Given the description of an element on the screen output the (x, y) to click on. 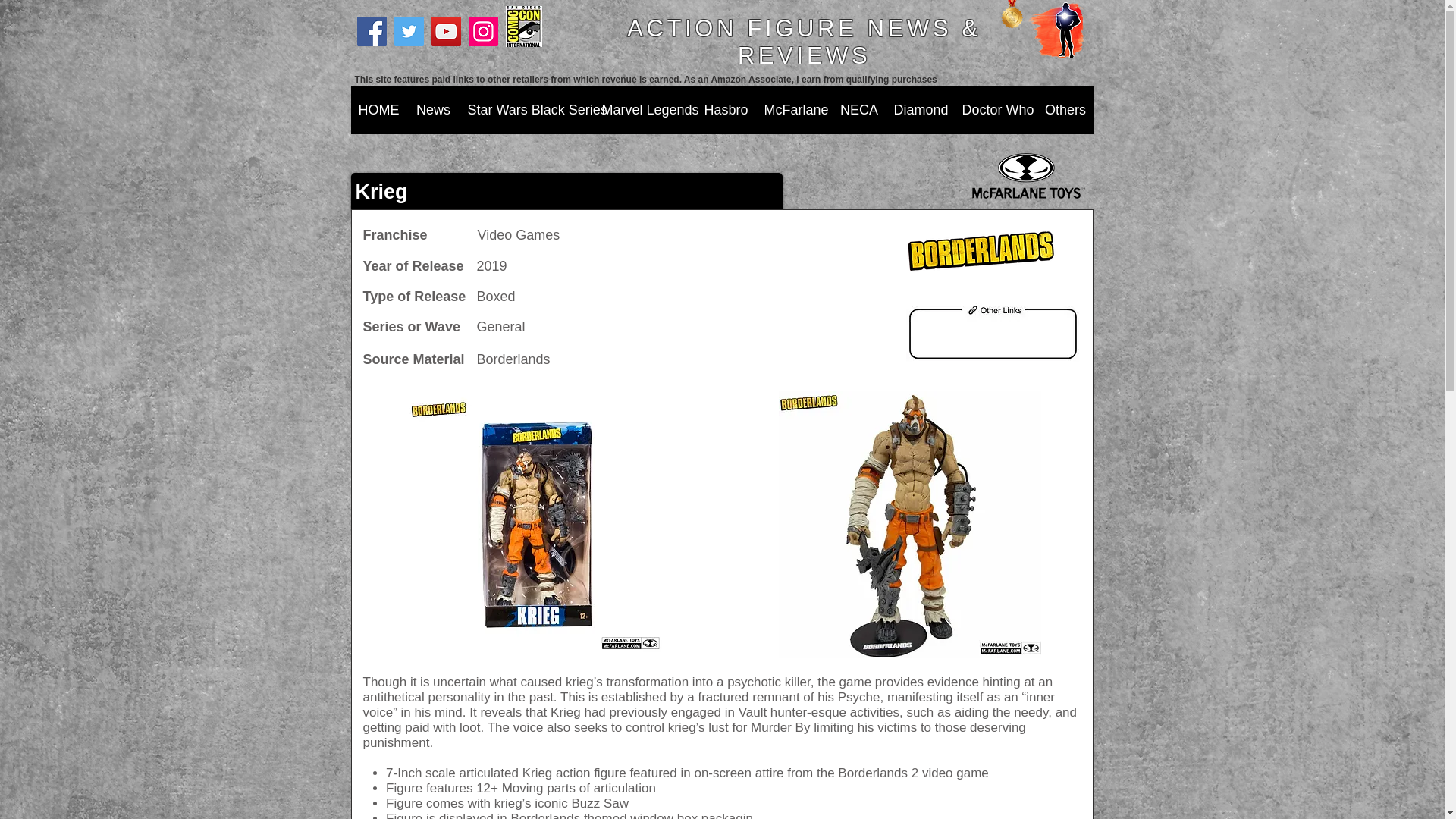
News (433, 114)
HOME (378, 114)
Embedded Content (1168, 19)
Borderlands.png (978, 248)
